Given the description of an element on the screen output the (x, y) to click on. 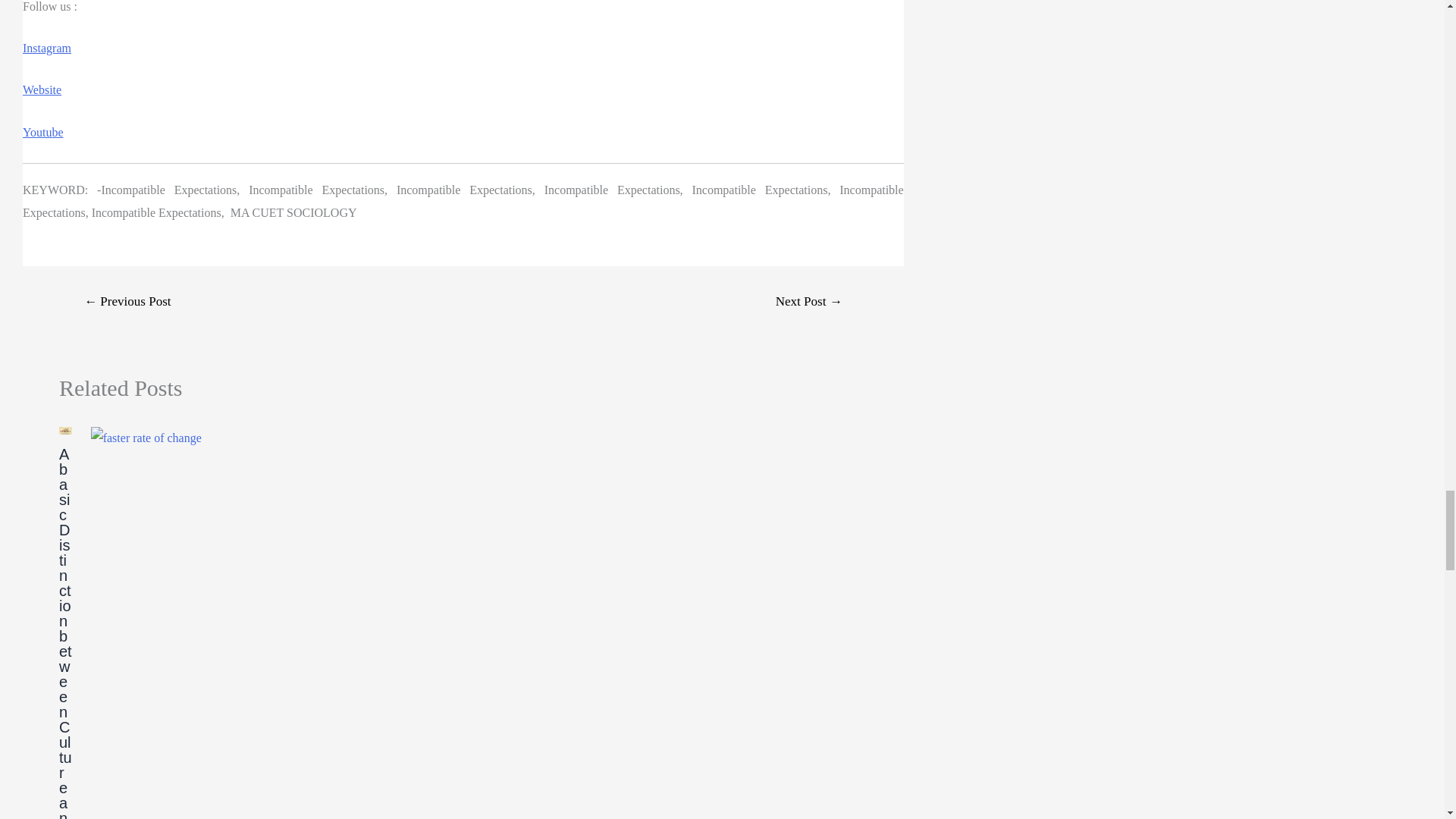
Youtube (43, 132)
Website (42, 89)
Instagram (47, 47)
